Given the description of an element on the screen output the (x, y) to click on. 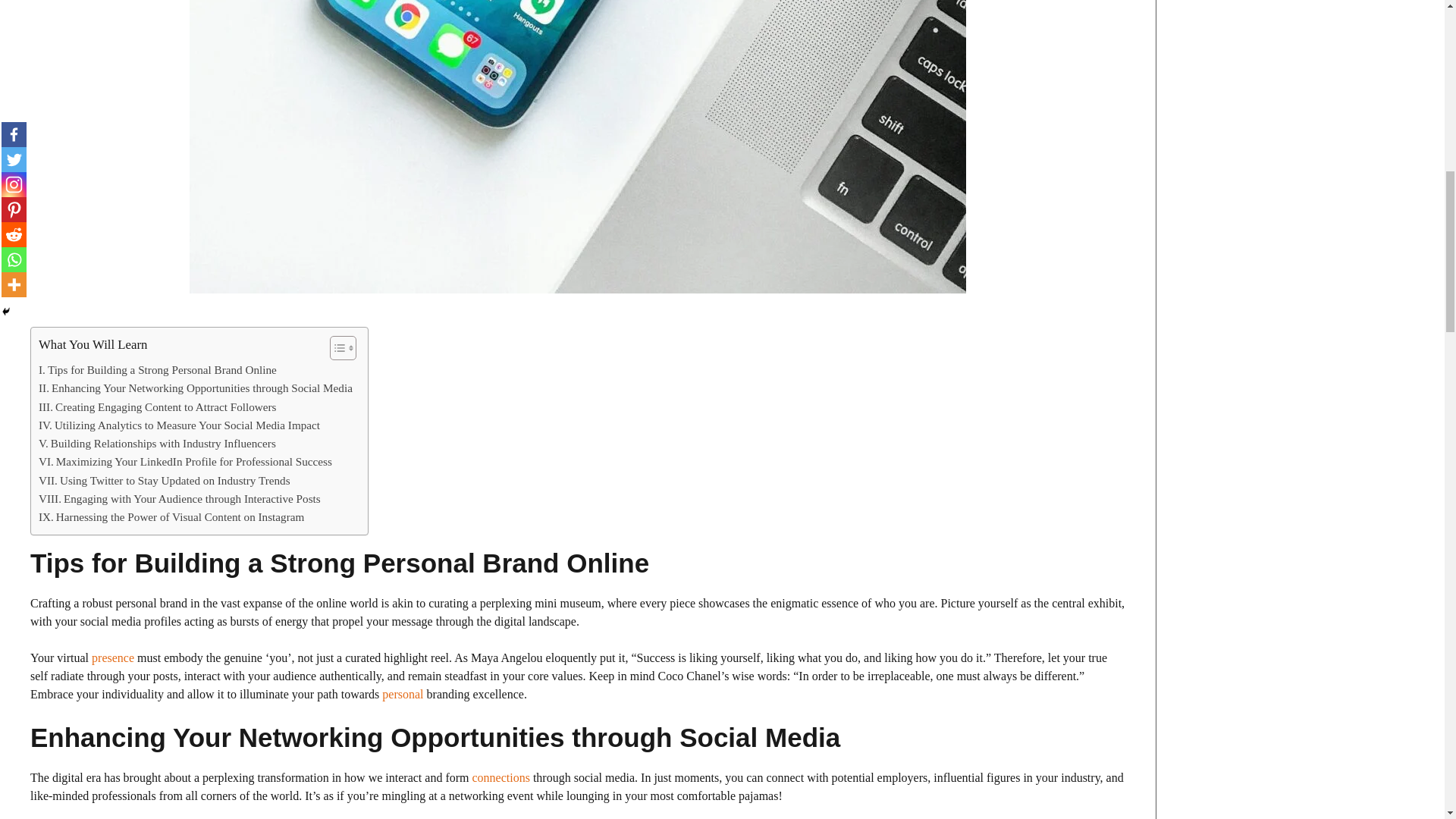
personal (402, 694)
Creating Engaging Content to Attract Followers (157, 407)
Engaging with Your Audience through Interactive Posts (179, 498)
presence (112, 657)
Maximizing Your LinkedIn Profile for Professional Success (185, 461)
connections (500, 777)
Maximizing Your LinkedIn Profile for Professional Success (185, 461)
Enhancing Your Networking Opportunities through Social Media (195, 388)
Using Twitter to Stay Updated on Industry Trends (164, 480)
Tips for Building a Strong Personal Brand Online (157, 370)
Utilizing Analytics to Measure Your Social Media Impact (179, 425)
Creating Engaging Content to Attract Followers (157, 407)
Enhancing Your Networking Opportunities through Social Media (195, 388)
Harnessing the Power of Visual Content on Instagram (171, 516)
Using Twitter to Stay Updated on Industry Trends (164, 480)
